Given the description of an element on the screen output the (x, y) to click on. 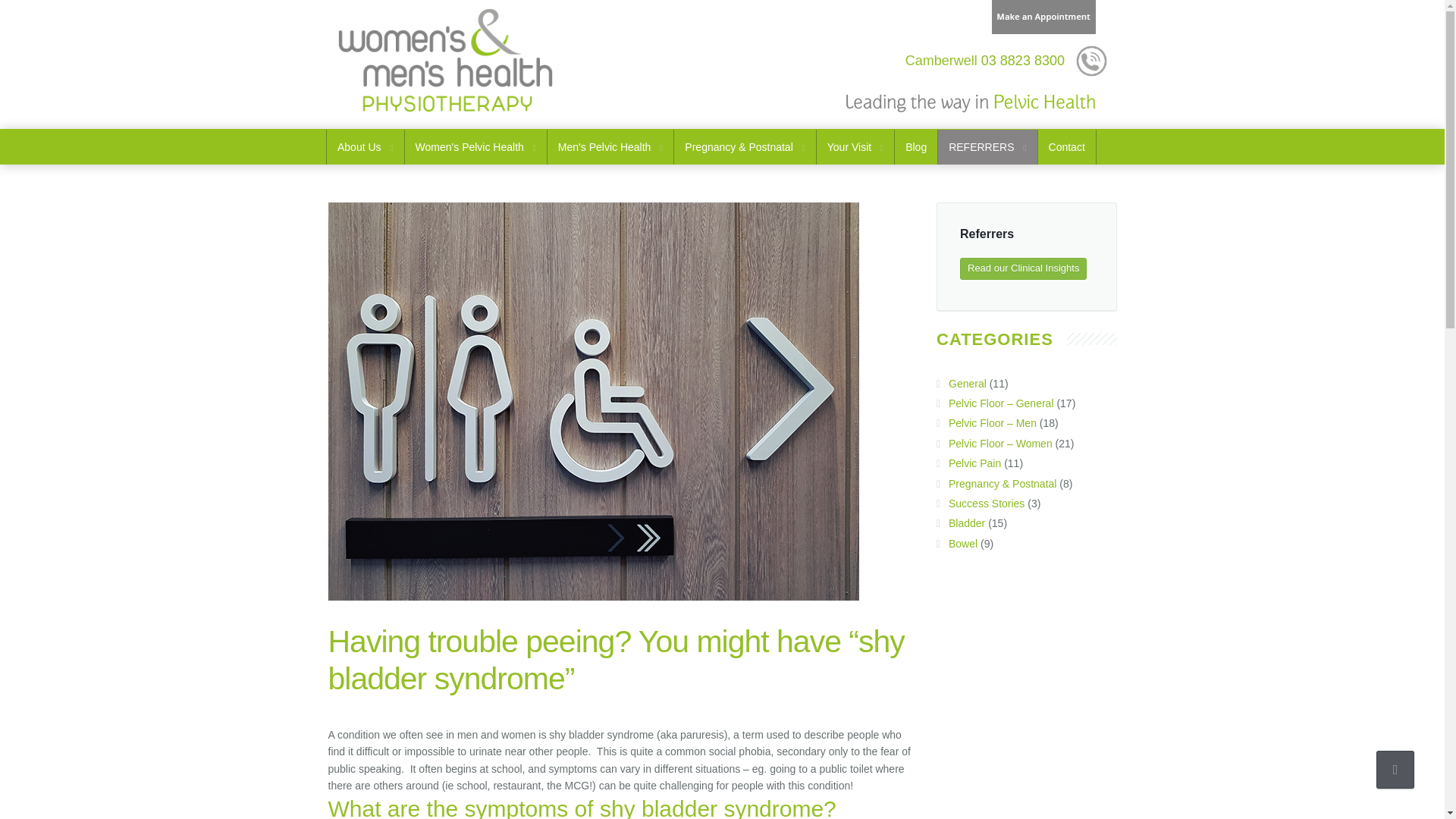
Your Visit (854, 146)
Camberwell 03 8823 8300 (984, 60)
About Us (365, 146)
Men's Pelvic Health (610, 146)
Women's Pelvic Health (475, 146)
